Given the description of an element on the screen output the (x, y) to click on. 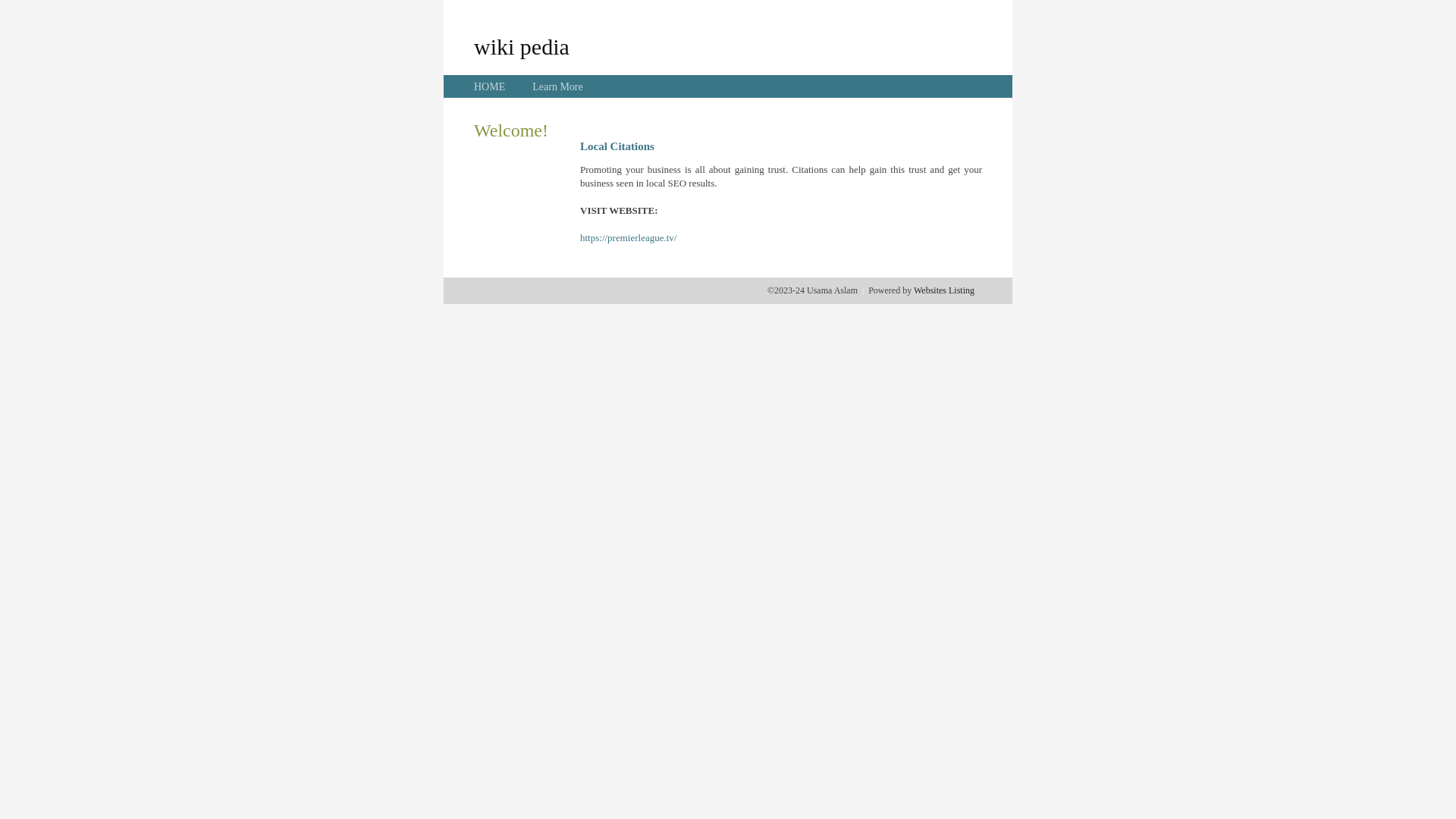
HOME Element type: text (489, 86)
https://premierleague.tv/ Element type: text (628, 237)
Websites Listing Element type: text (943, 290)
Learn More Element type: text (557, 86)
wiki pedia Element type: text (521, 46)
